Given the description of an element on the screen output the (x, y) to click on. 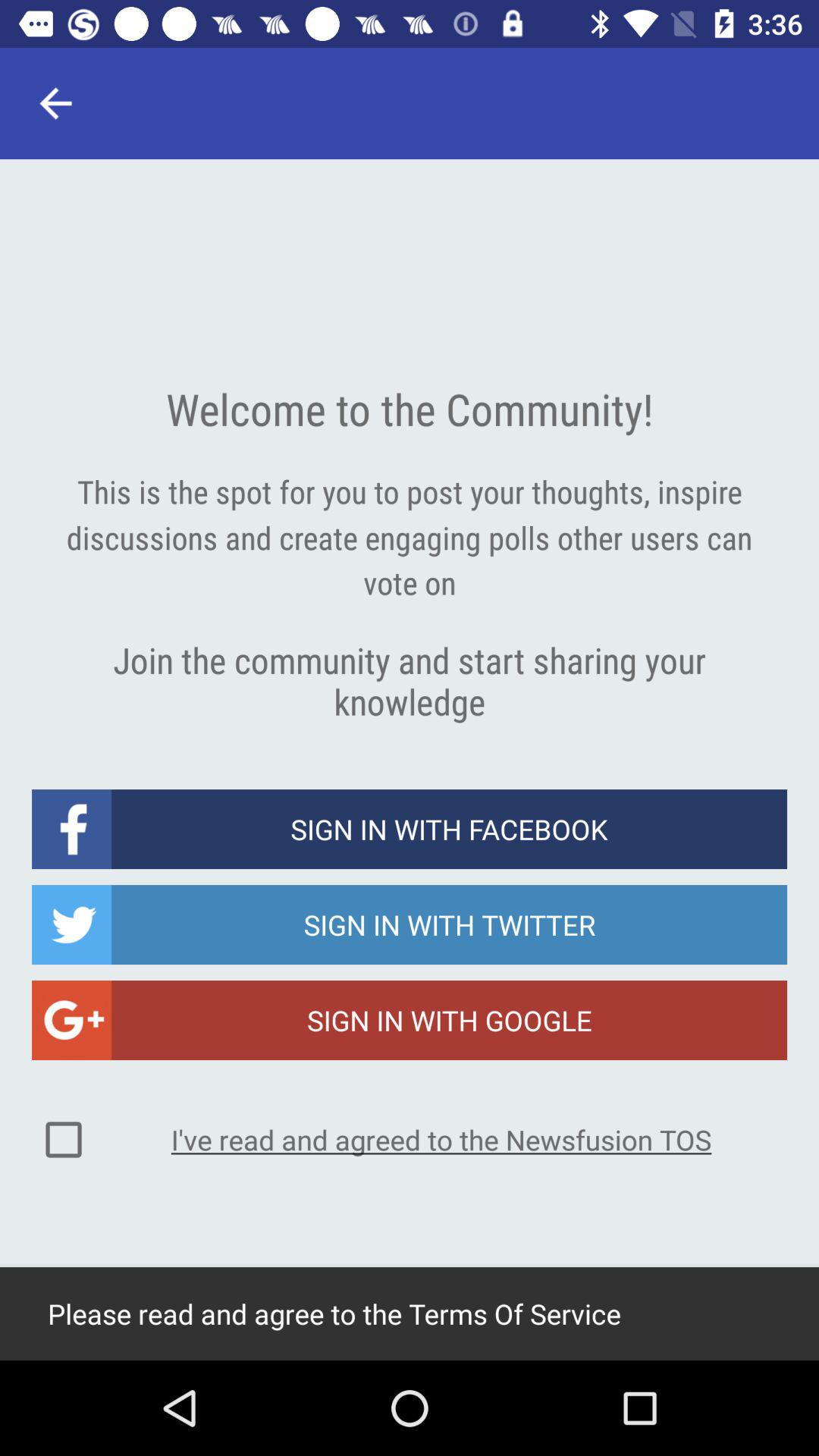
press the item above please read and (63, 1139)
